Given the description of an element on the screen output the (x, y) to click on. 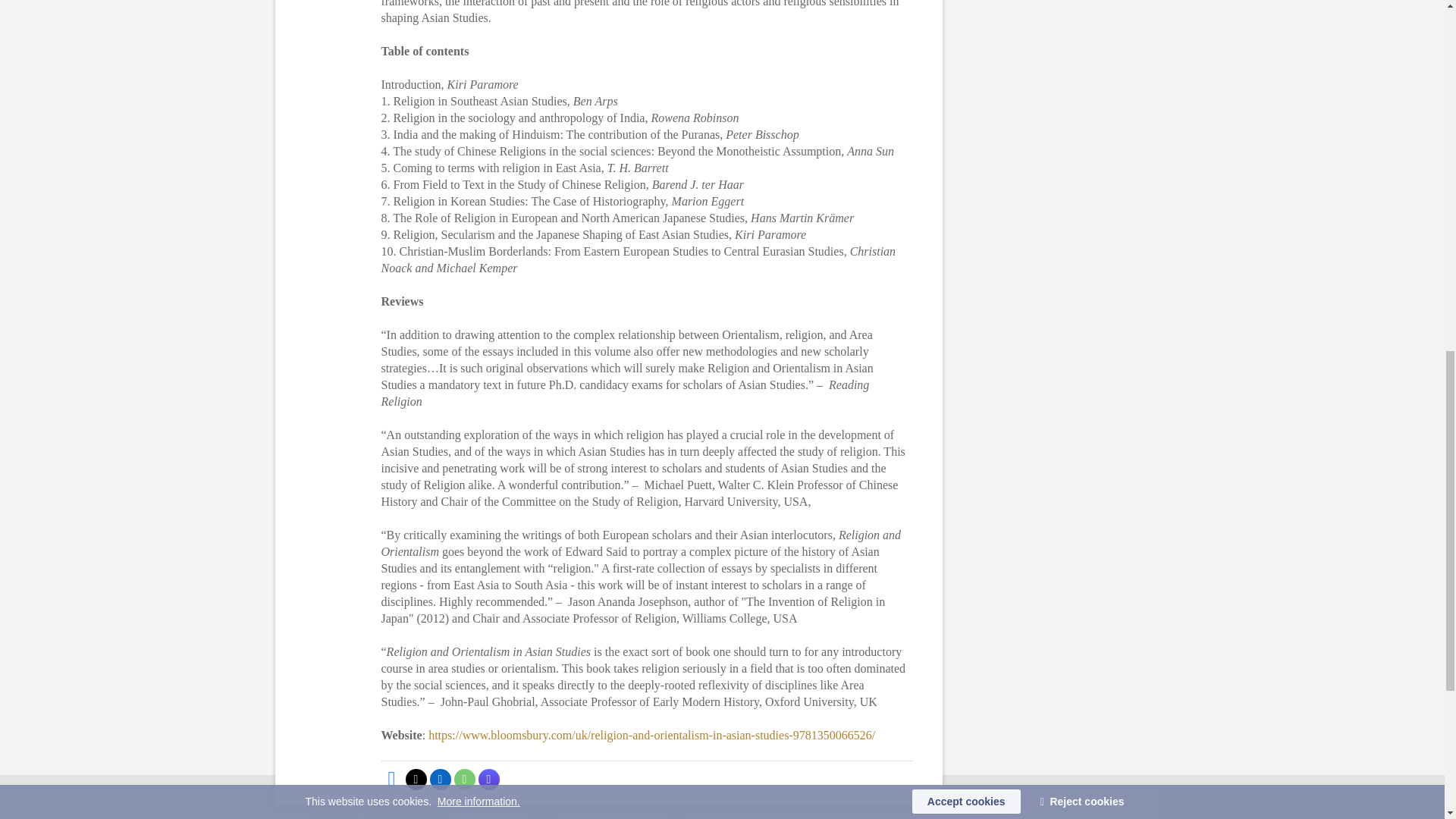
Share on LinkedIn (439, 779)
Share by WhatsApp (463, 779)
Share by Mastodon (488, 779)
Share on X (415, 779)
Share on Facebook (390, 779)
